Given the description of an element on the screen output the (x, y) to click on. 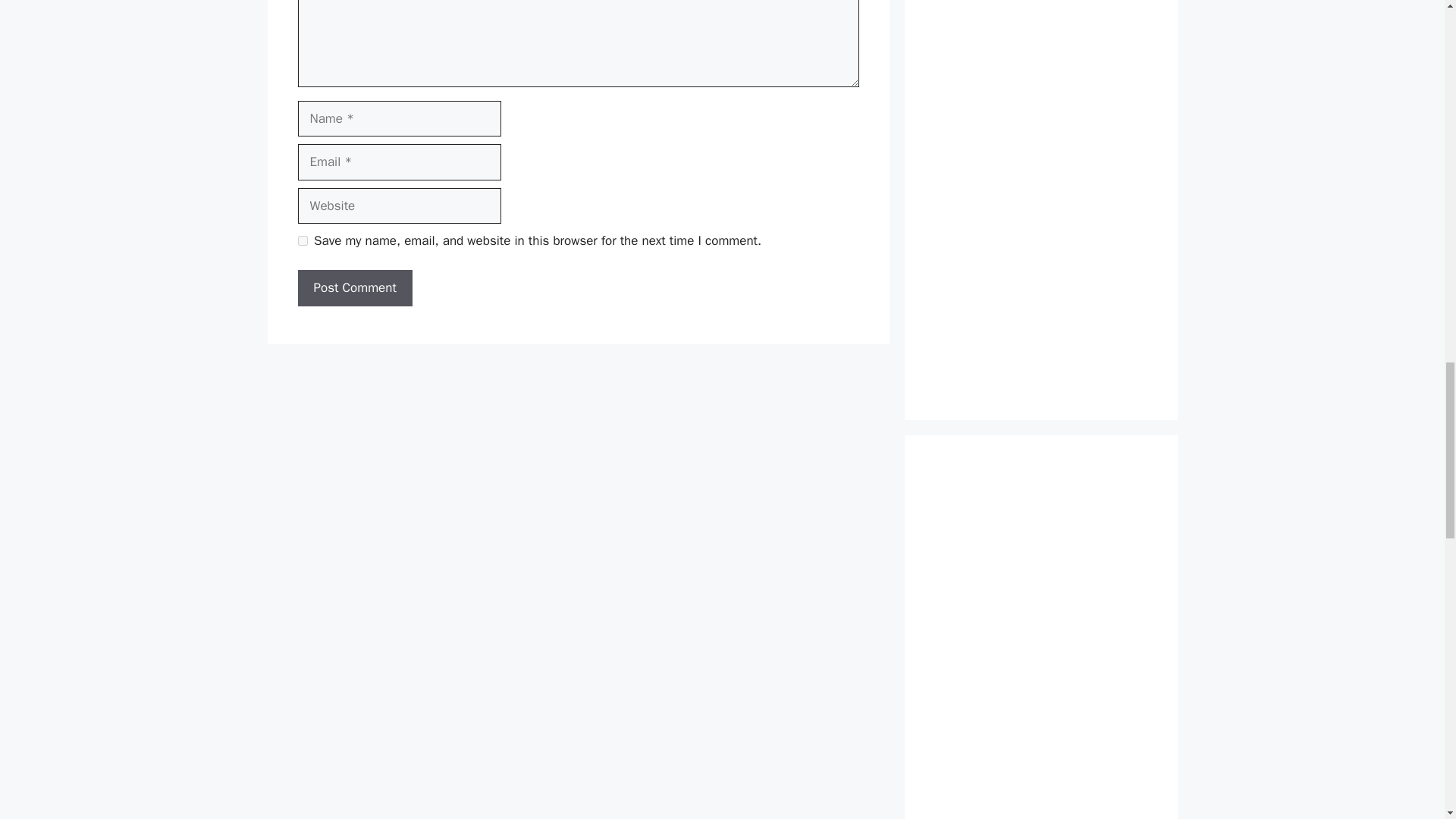
yes (302, 240)
Post Comment (354, 288)
Post Comment (354, 288)
